Given the description of an element on the screen output the (x, y) to click on. 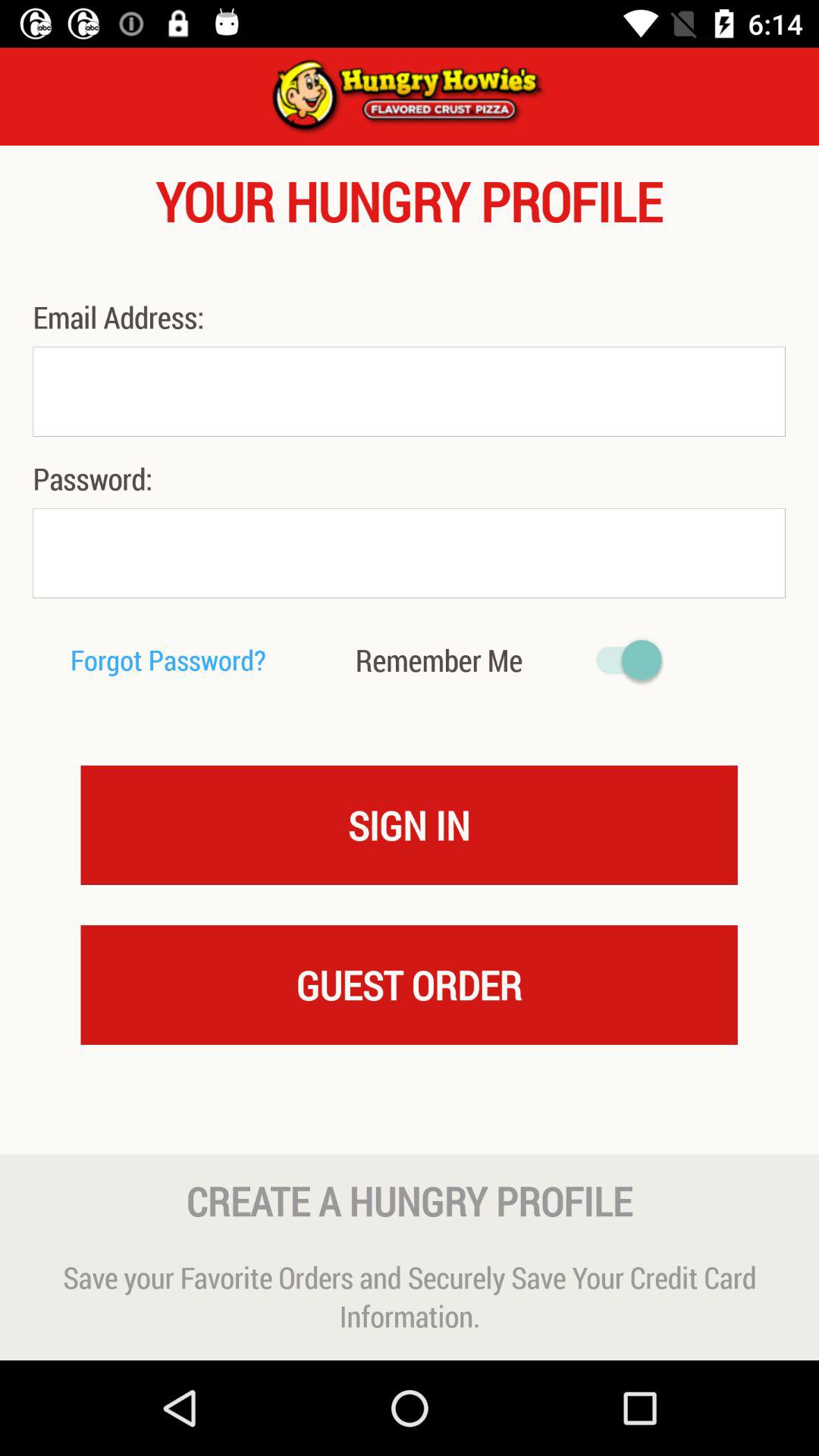
open the item to the left of remember me item (167, 659)
